Given the description of an element on the screen output the (x, y) to click on. 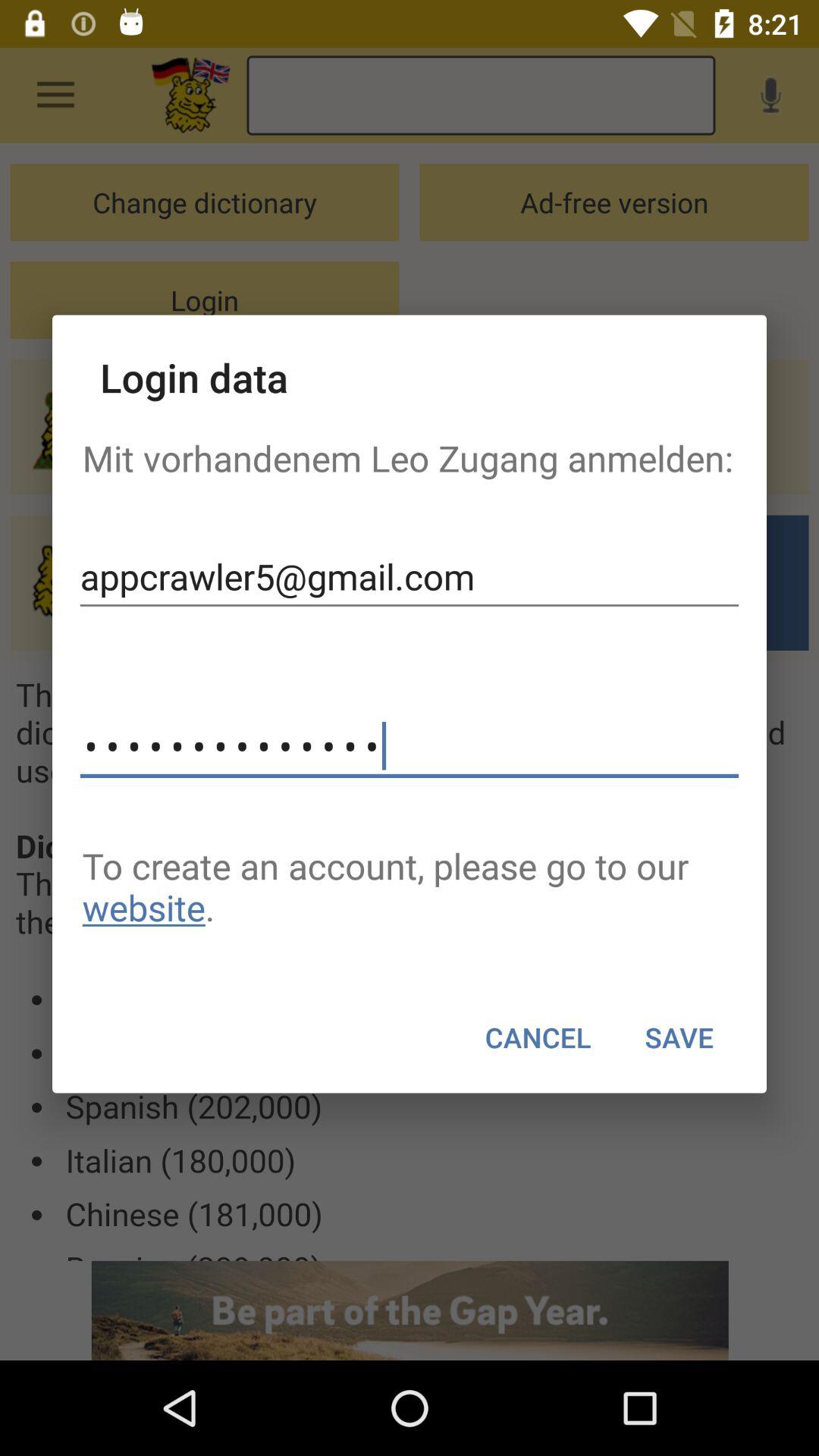
select the item below the appcrawler3116 icon (409, 886)
